Given the description of an element on the screen output the (x, y) to click on. 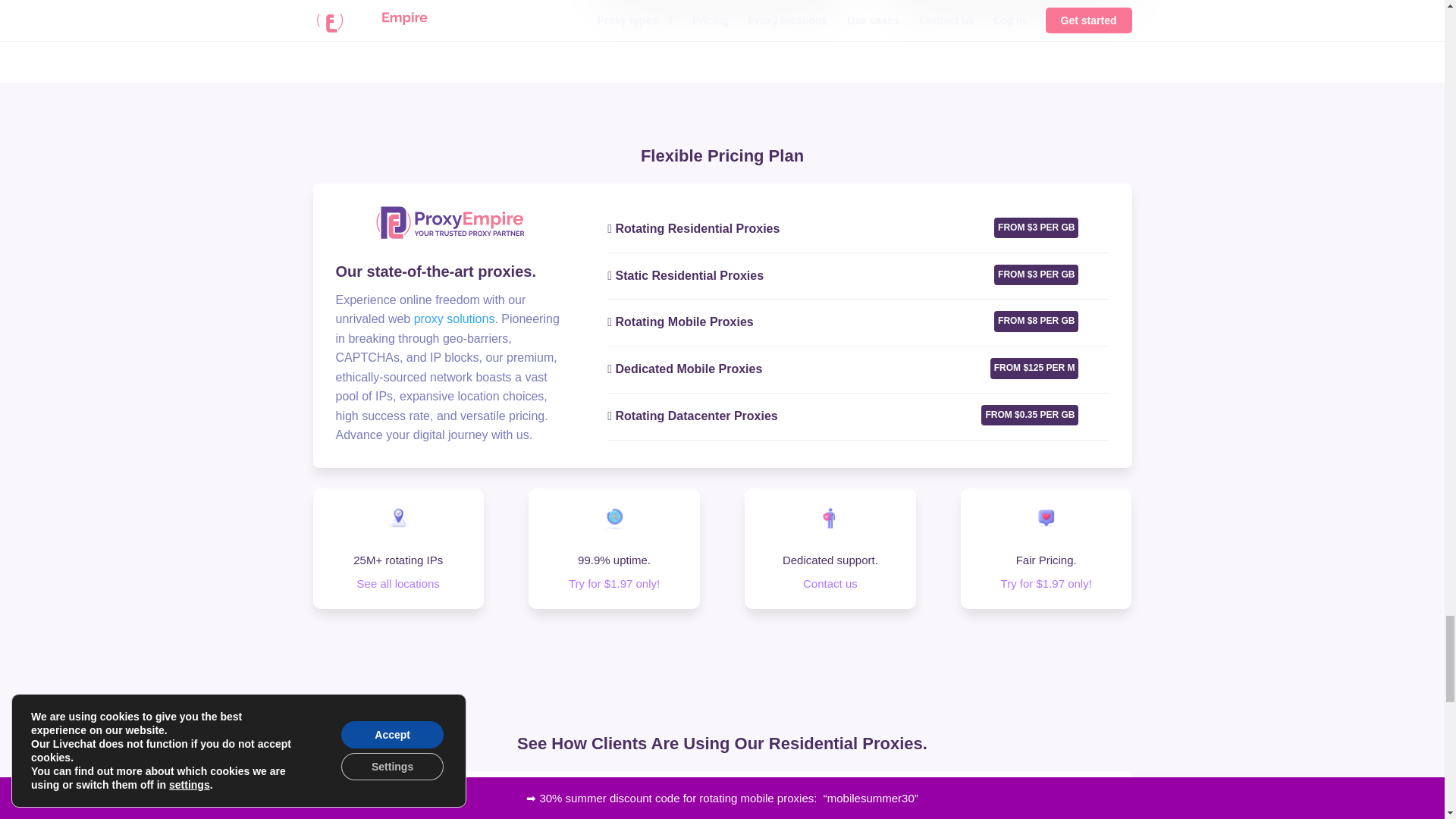
logo purple proxyempire-01-01 (449, 222)
